Given the description of an element on the screen output the (x, y) to click on. 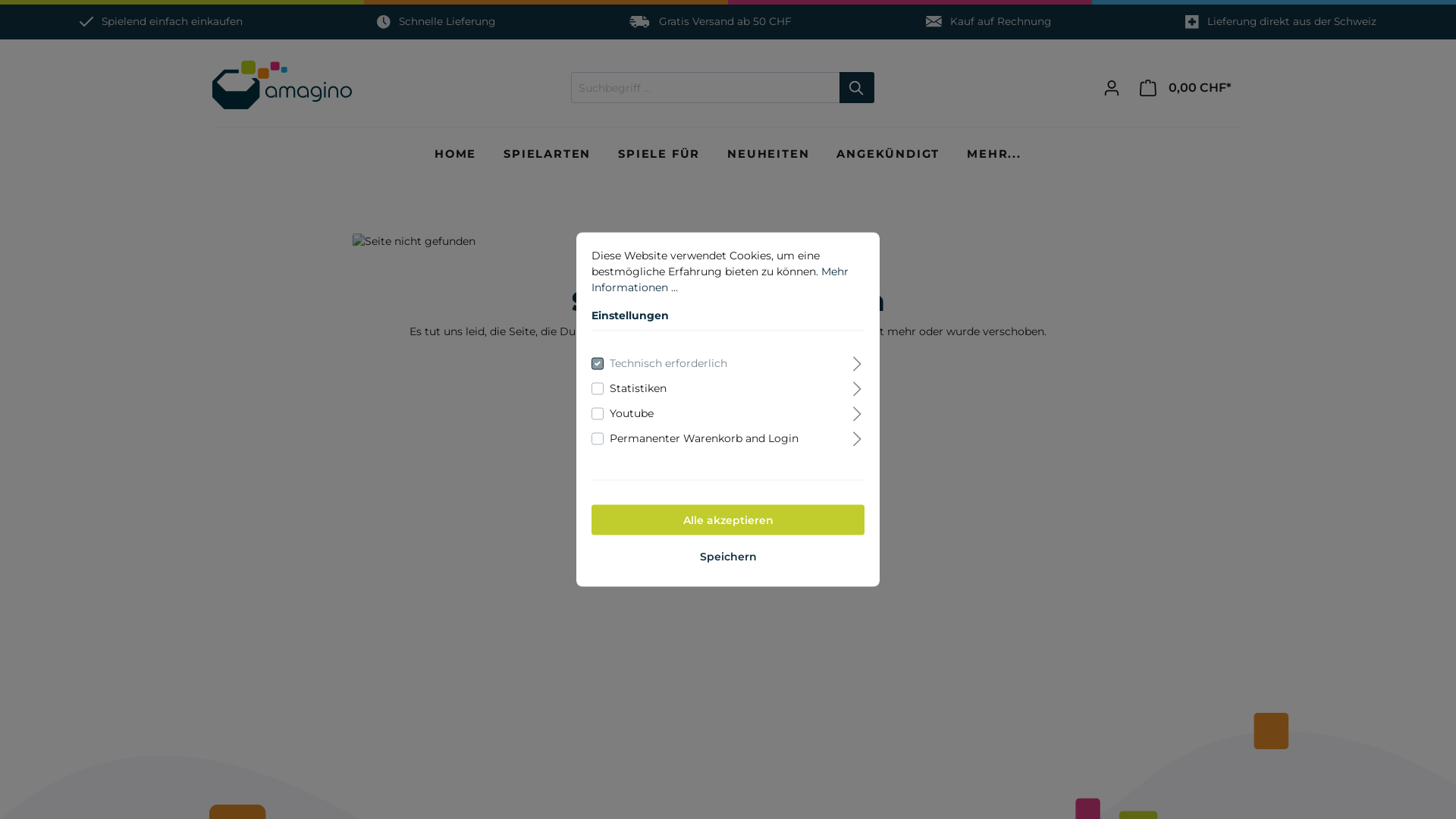
Mein Konto Element type: hover (1111, 87)
Mehr Informationen ... Element type: text (719, 278)
Speichern Element type: text (727, 556)
Zur Startseite wechseln Element type: hover (281, 84)
NEUHEITEN Element type: text (768, 162)
Alle akzeptieren Element type: text (727, 520)
SPIELARTEN Element type: text (546, 162)
HOME Element type: text (455, 162)
MEHR... Element type: text (993, 162)
0,00 CHF* Element type: text (1186, 87)
